Given the description of an element on the screen output the (x, y) to click on. 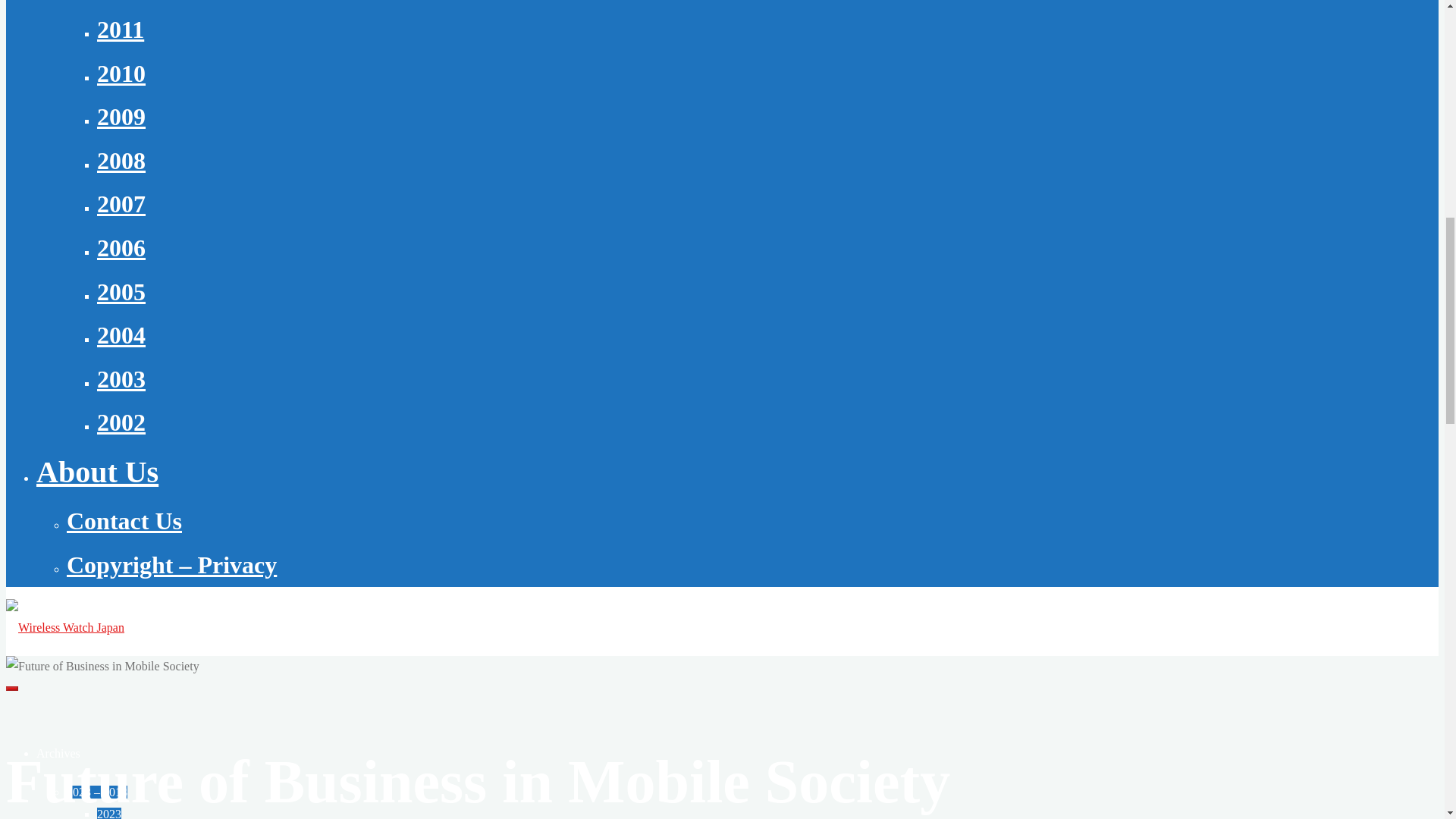
2011 (120, 29)
2007 (121, 203)
2006 (121, 247)
2004 (121, 334)
2010 (121, 72)
2002 (121, 421)
2023 (108, 813)
Archives (58, 753)
2005 (121, 291)
2009 (121, 116)
About Us (97, 471)
2008 (121, 160)
2003 (121, 379)
Contact Us (124, 520)
Wireless Watch Japan (64, 626)
